Given the description of an element on the screen output the (x, y) to click on. 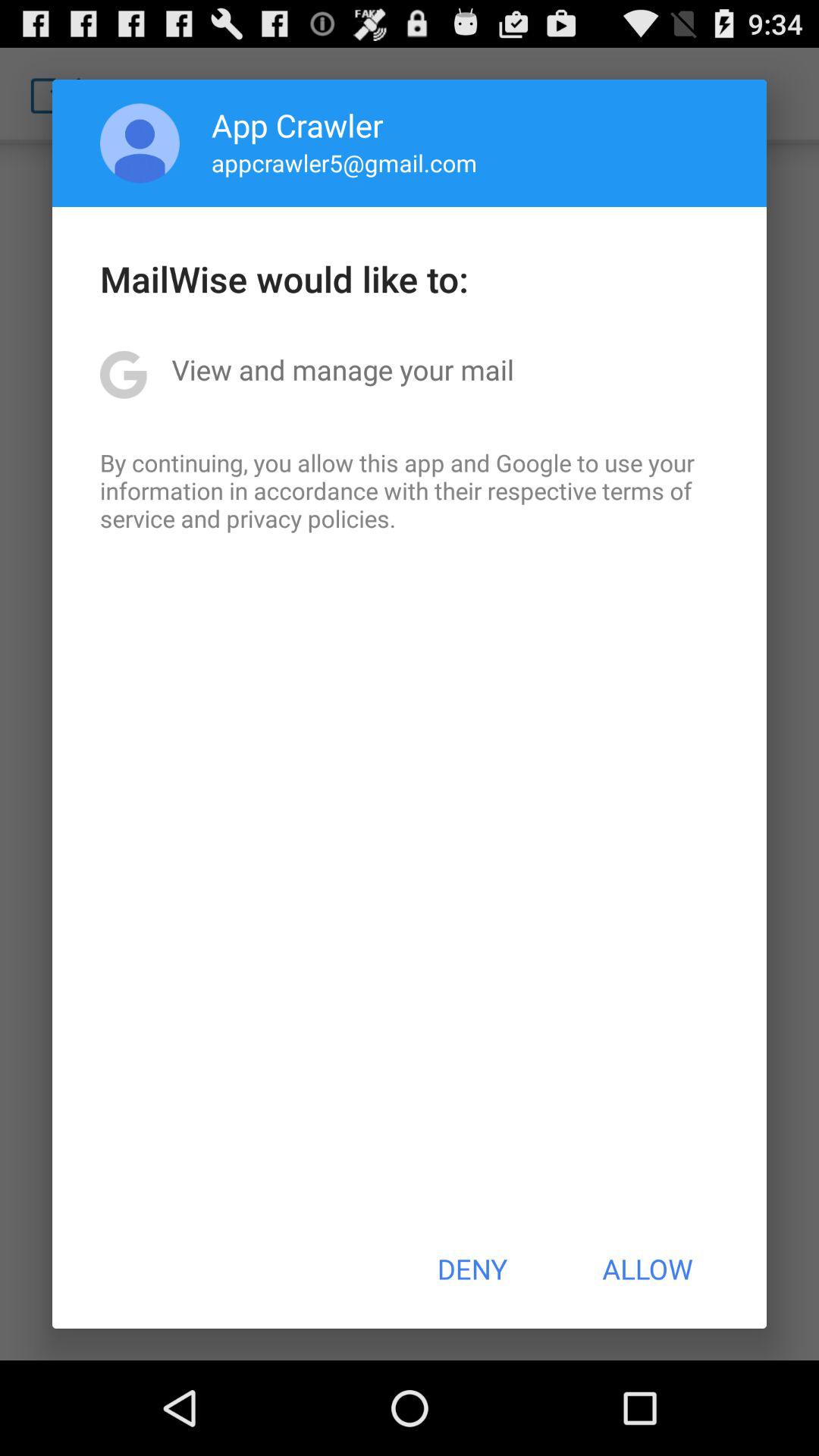
swipe to deny (471, 1268)
